Given the description of an element on the screen output the (x, y) to click on. 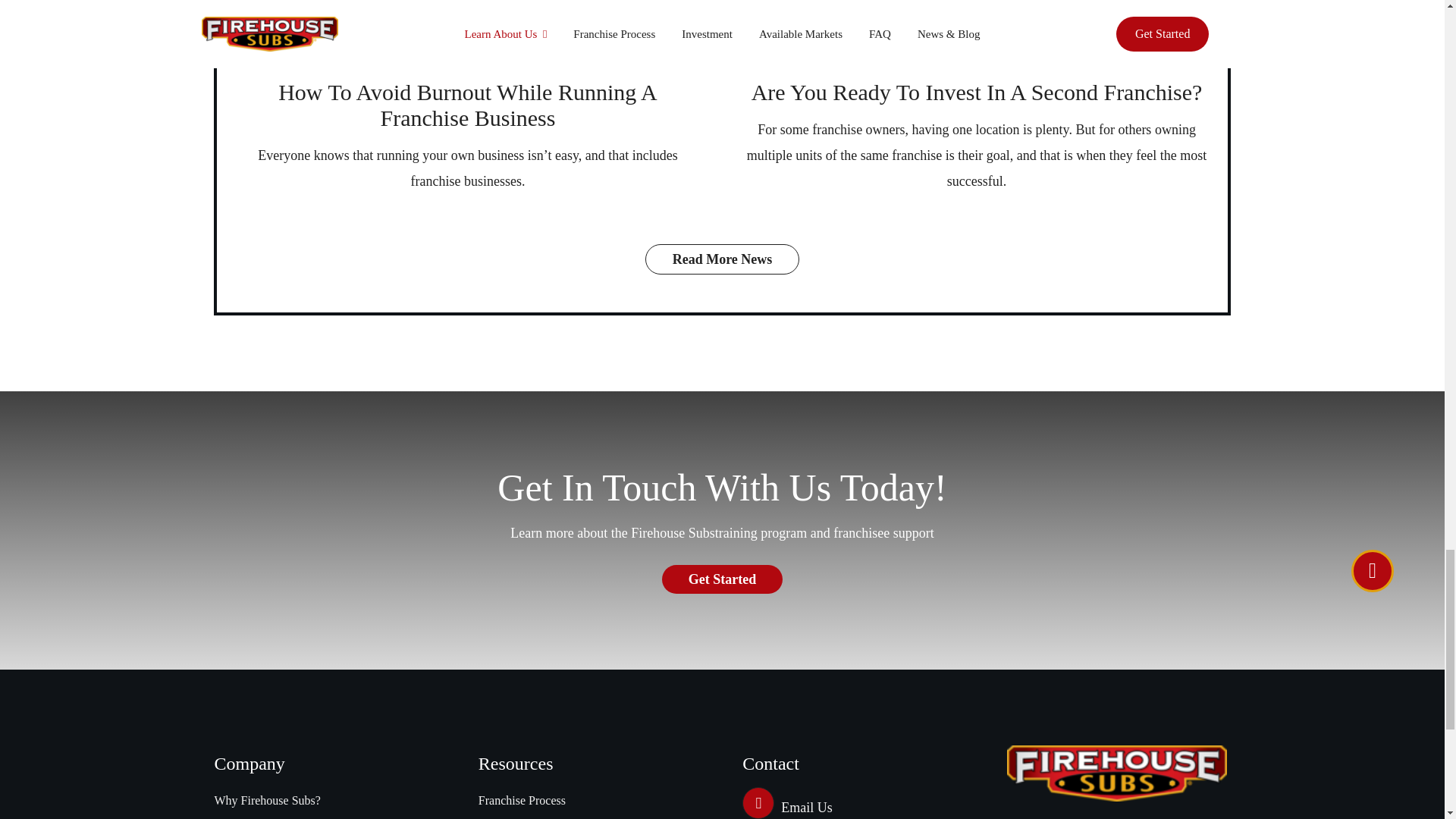
Posts by admin (393, 38)
Get Started (722, 579)
admin (393, 38)
Posts by admin (895, 38)
How To Avoid Burnout While Running A Franchise Business (468, 104)
